Given the description of an element on the screen output the (x, y) to click on. 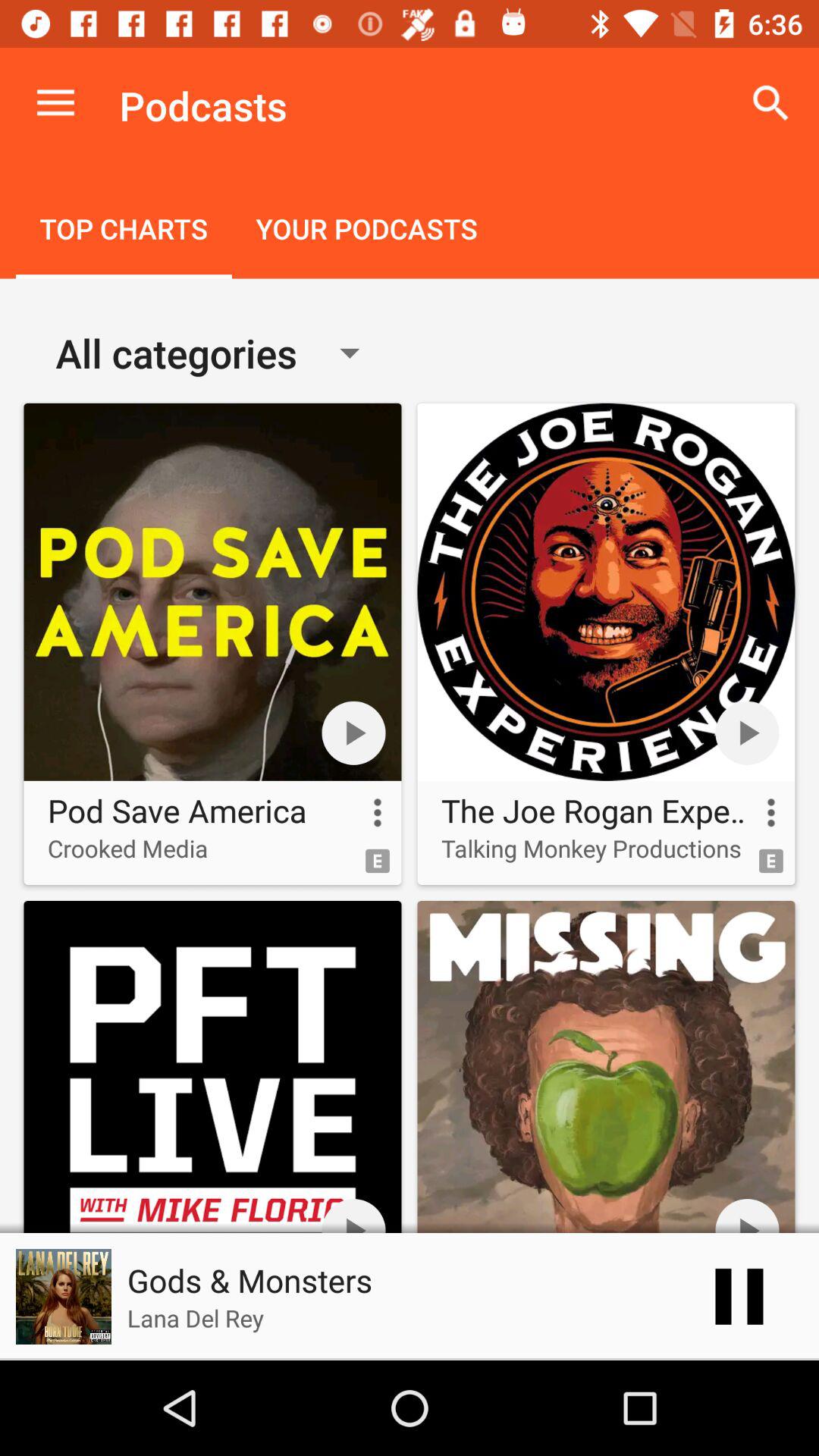
launch the icon to the right of podcasts (771, 103)
